Given the description of an element on the screen output the (x, y) to click on. 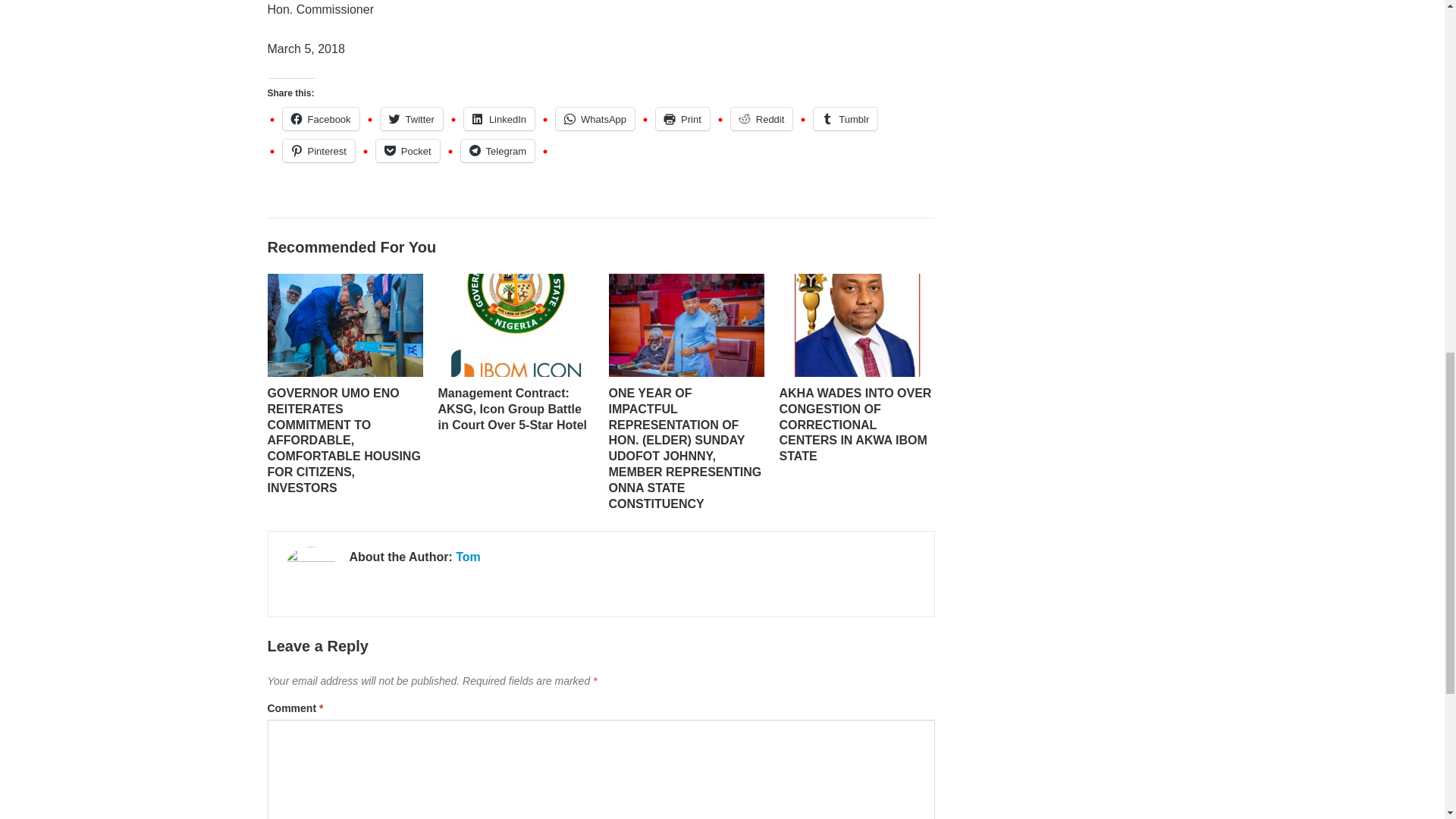
Click to share on Reddit (761, 118)
Click to share on WhatsApp (595, 118)
Facebook (320, 118)
Click to share on Pocket (407, 150)
Twitter (411, 118)
Click to share on Pinterest (317, 150)
Click to share on Twitter (411, 118)
Click to print (683, 118)
Click to share on Facebook (320, 118)
Click to share on Telegram (497, 150)
Click to share on LinkedIn (499, 118)
Click to share on Tumblr (845, 118)
